Given the description of an element on the screen output the (x, y) to click on. 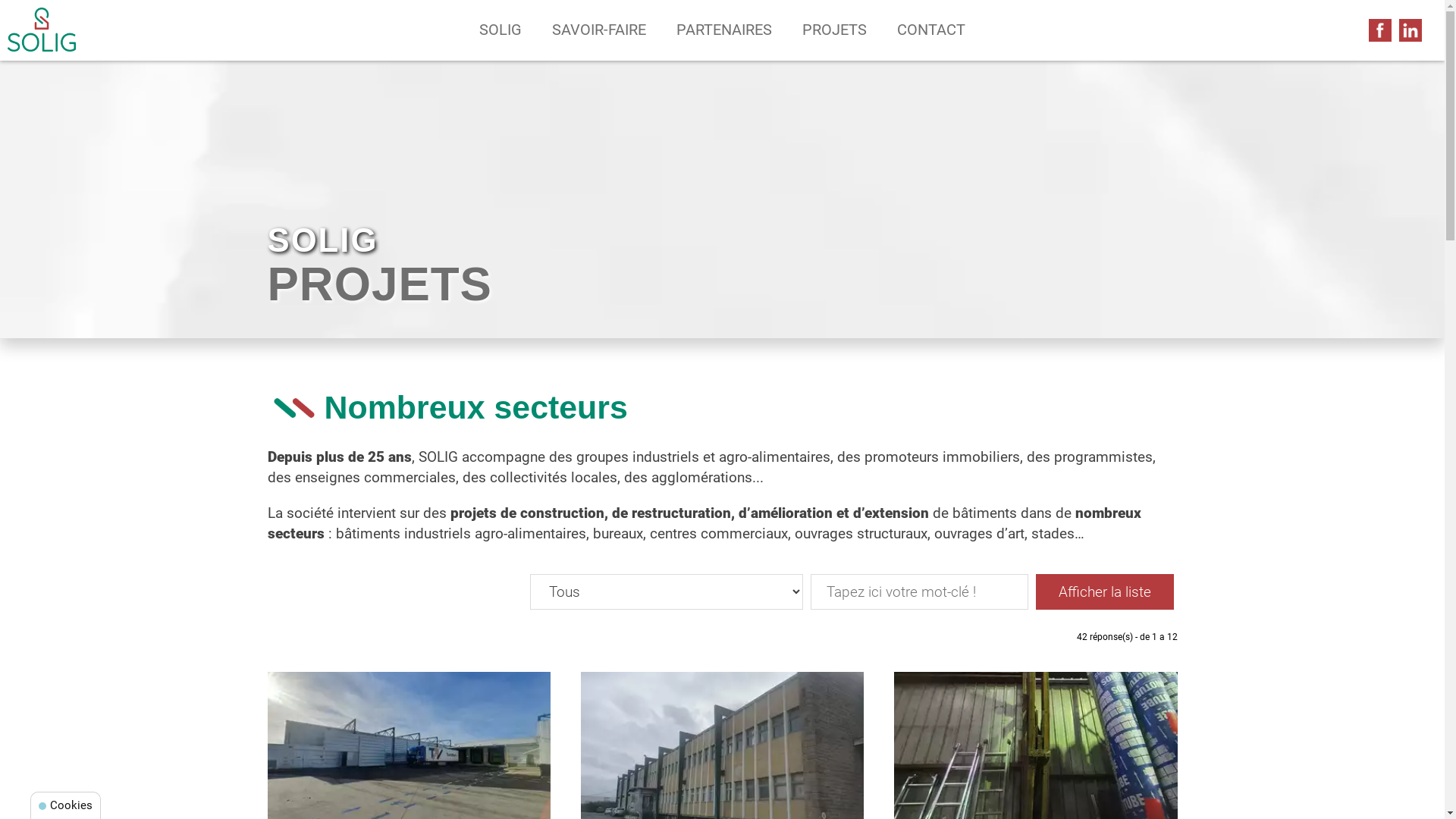
PROJETS Element type: text (834, 30)
Solig Element type: hover (41, 29)
PARTENAIRES Element type: text (723, 30)
CONTACT Element type: text (930, 30)
Afficher la liste Element type: text (1104, 591)
